Given the description of an element on the screen output the (x, y) to click on. 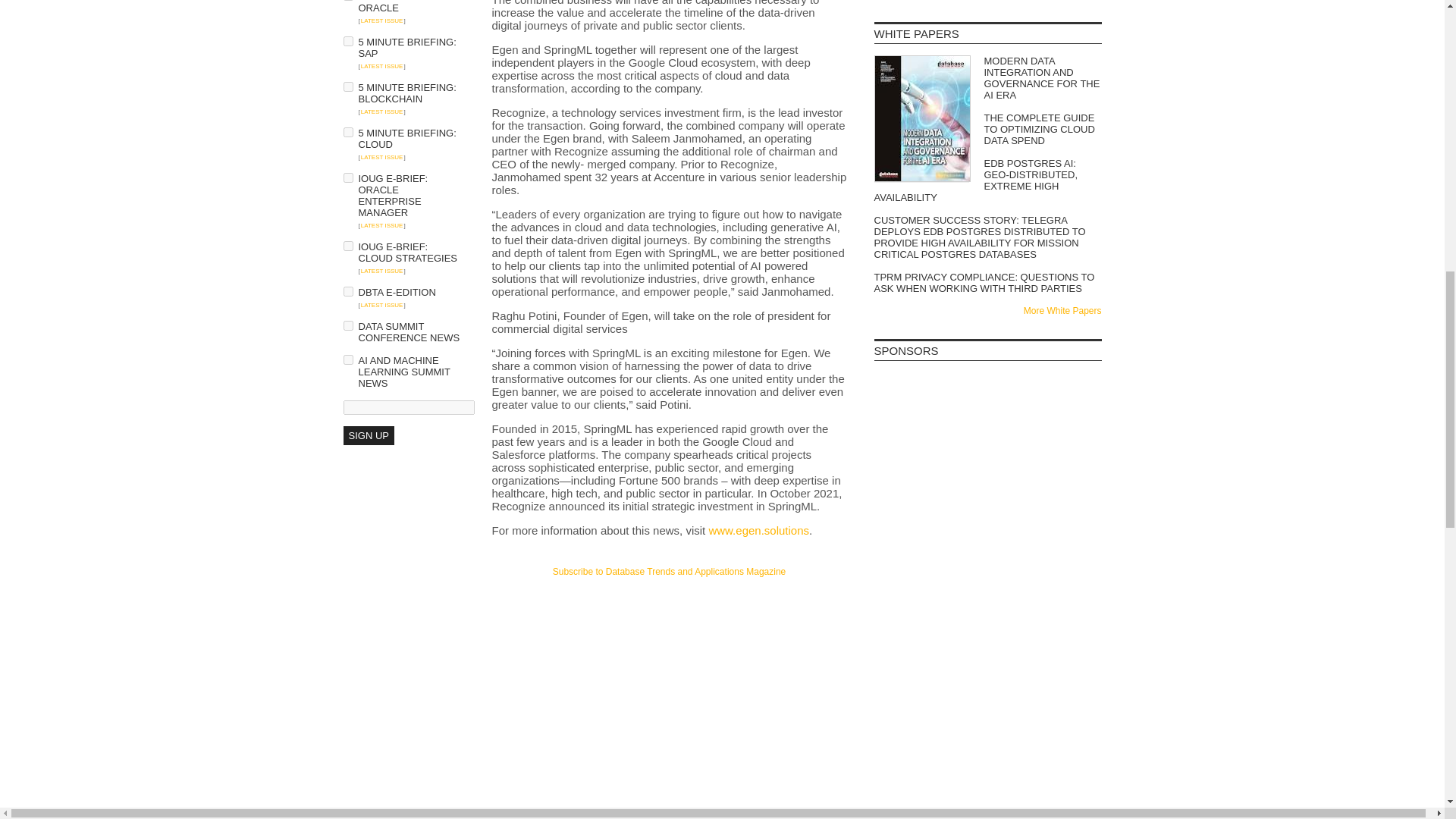
3rd party ad content (986, 409)
on (347, 325)
Modern Data Integration and Governance for the AI Era (986, 77)
on (347, 132)
on (347, 359)
on (347, 40)
on (347, 291)
Sign Up (367, 435)
on (347, 86)
